Given the description of an element on the screen output the (x, y) to click on. 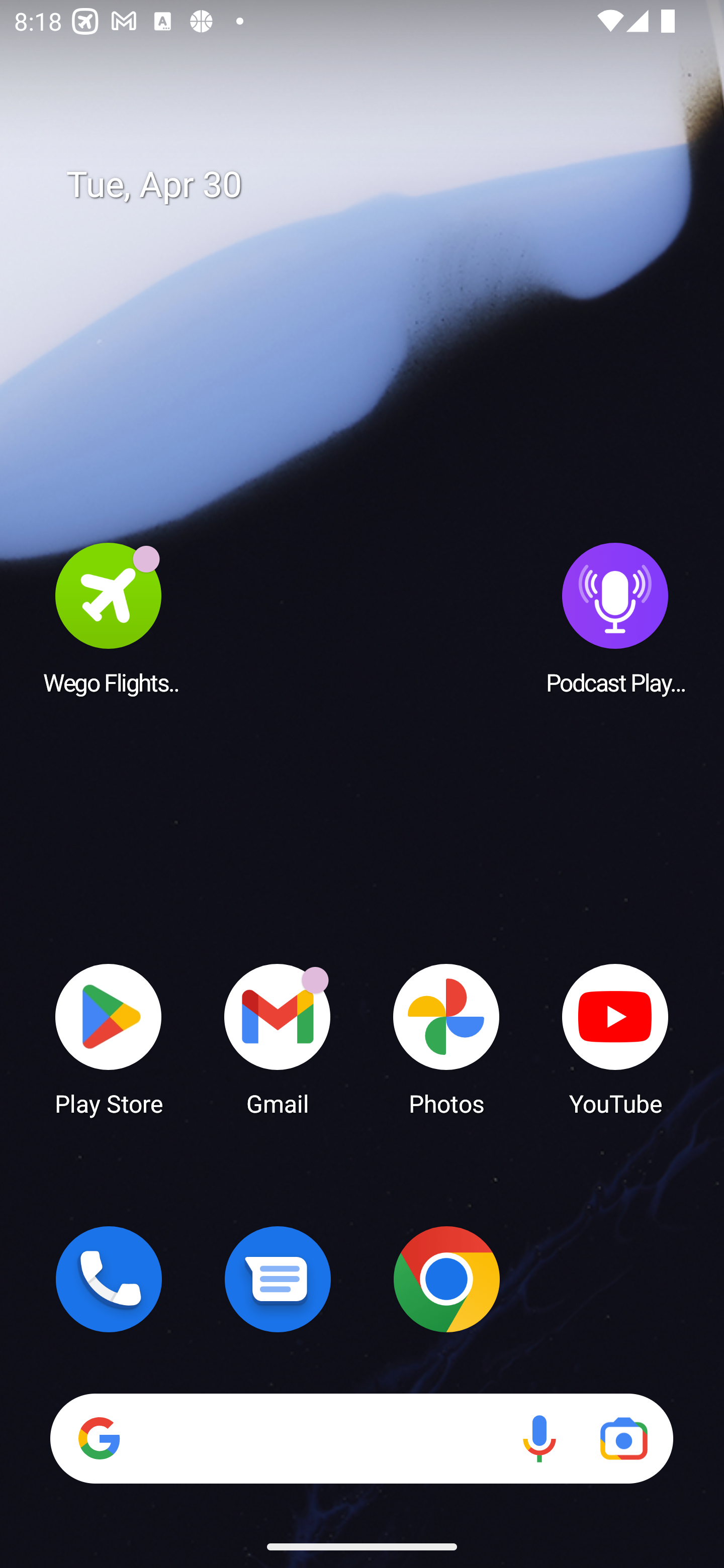
Tue, Apr 30 (375, 184)
Podcast Player (615, 617)
Play Store (108, 1038)
Gmail Gmail has 19 notifications (277, 1038)
Photos (445, 1038)
YouTube (615, 1038)
Phone (108, 1279)
Messages (277, 1279)
Chrome (446, 1279)
Voice search (539, 1438)
Google Lens (623, 1438)
